Given the description of an element on the screen output the (x, y) to click on. 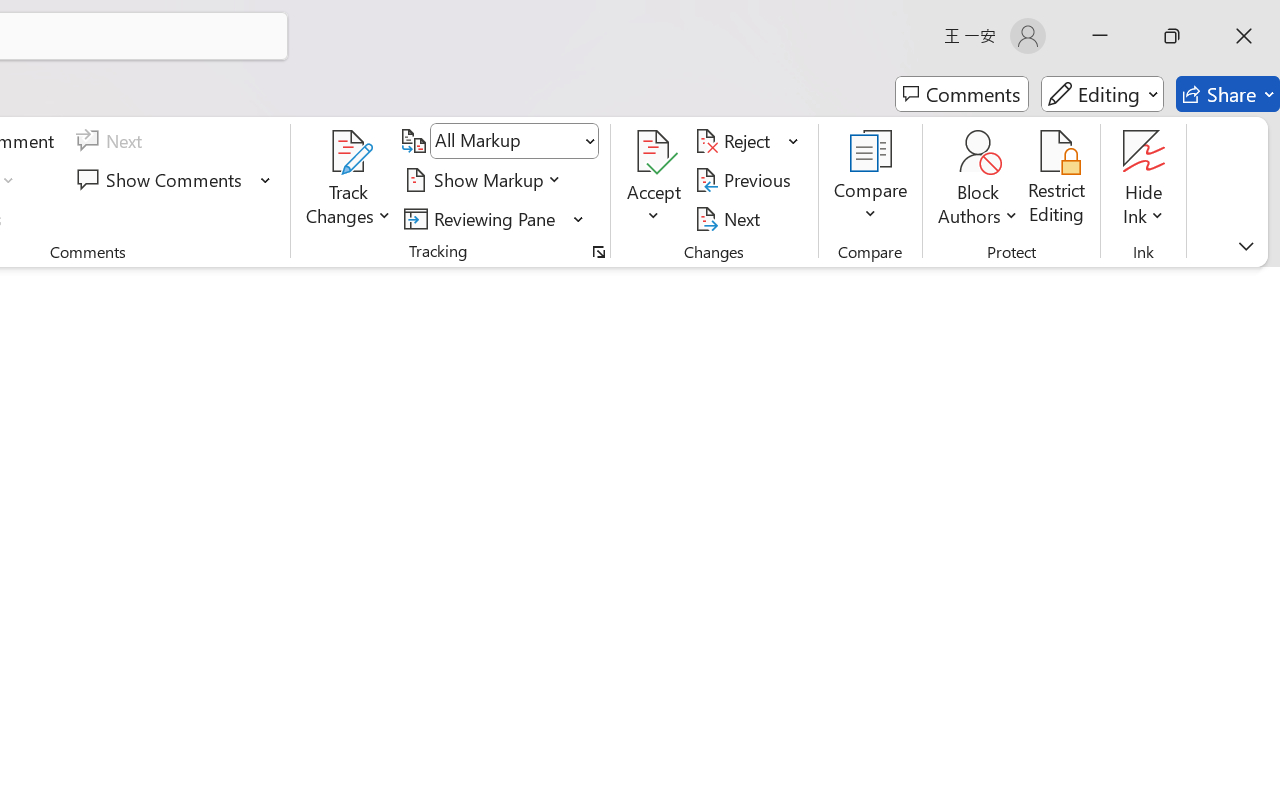
Share (1228, 94)
More Options (1144, 208)
Accept and Move to Next (653, 151)
Change Tracking Options... (598, 252)
Editing (1101, 94)
Show Comments (174, 179)
Open (588, 141)
Ribbon Display Options (1246, 245)
Minimize (1099, 36)
Comments (961, 94)
Reviewing Pane (494, 218)
Restrict Editing (1057, 179)
Close (1244, 36)
Reject (747, 141)
Accept (653, 179)
